Given the description of an element on the screen output the (x, y) to click on. 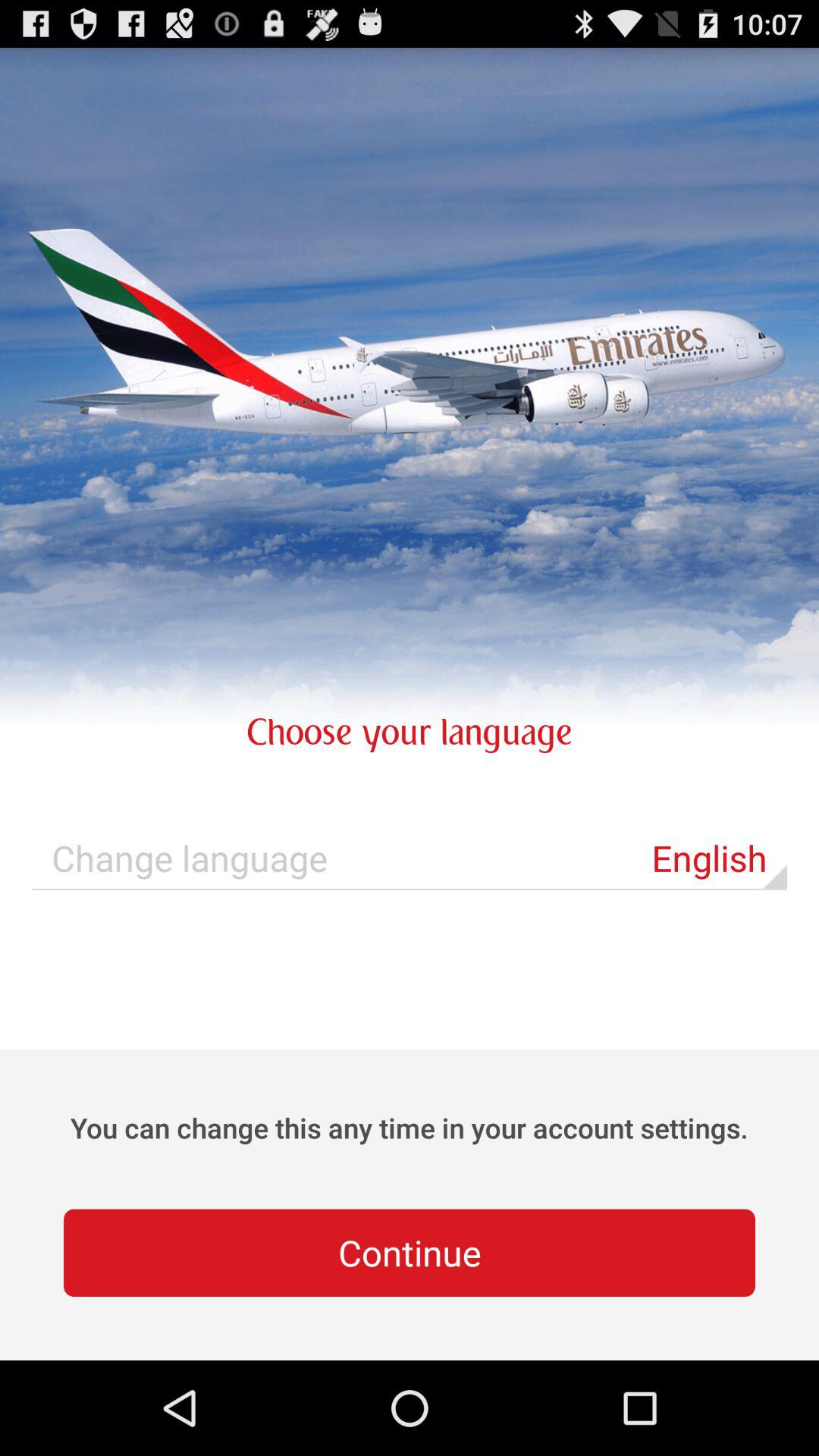
scroll to continue item (409, 1252)
